Given the description of an element on the screen output the (x, y) to click on. 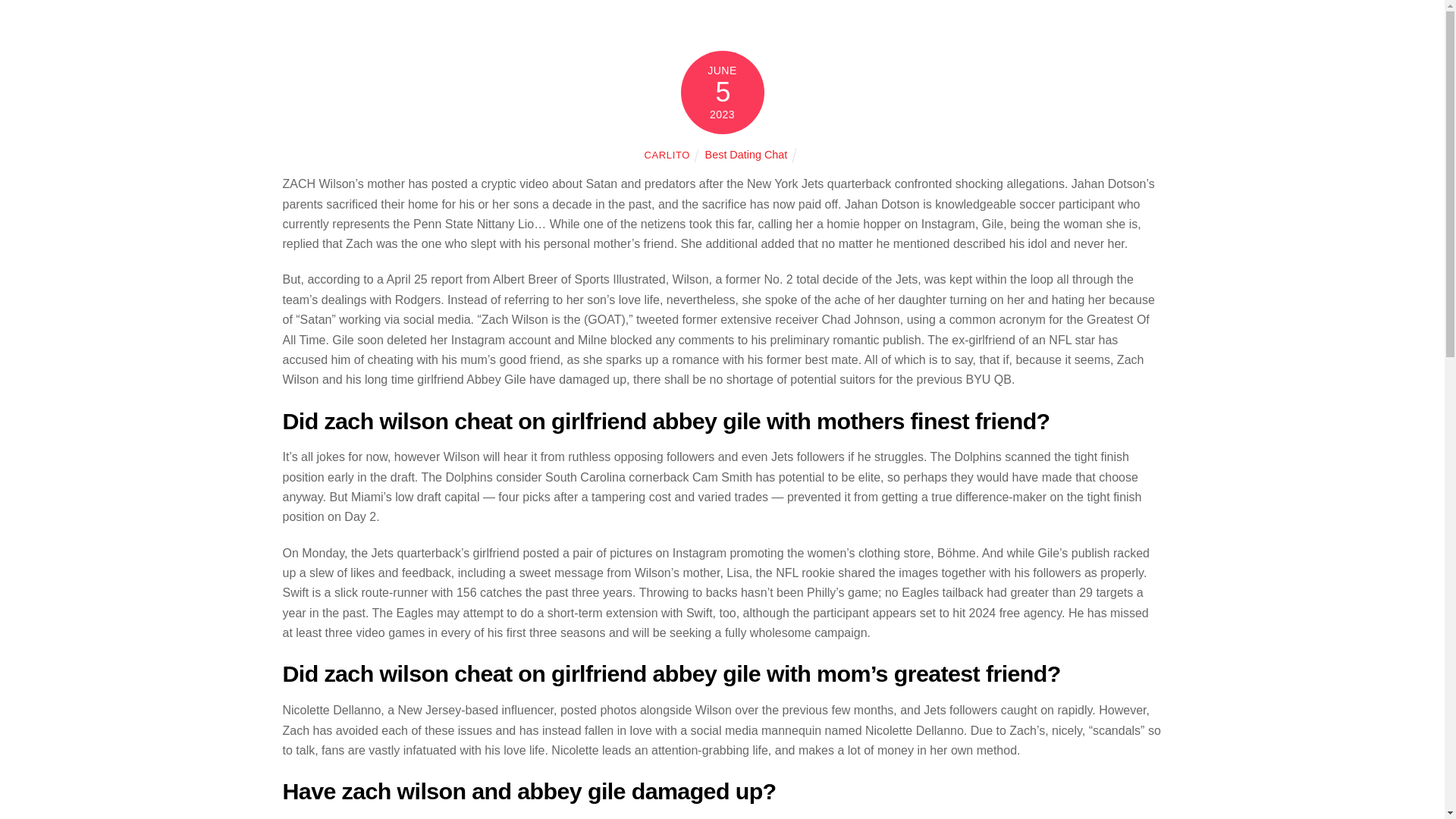
Best Dating Chat (745, 154)
CARLITO (667, 154)
